Given the description of an element on the screen output the (x, y) to click on. 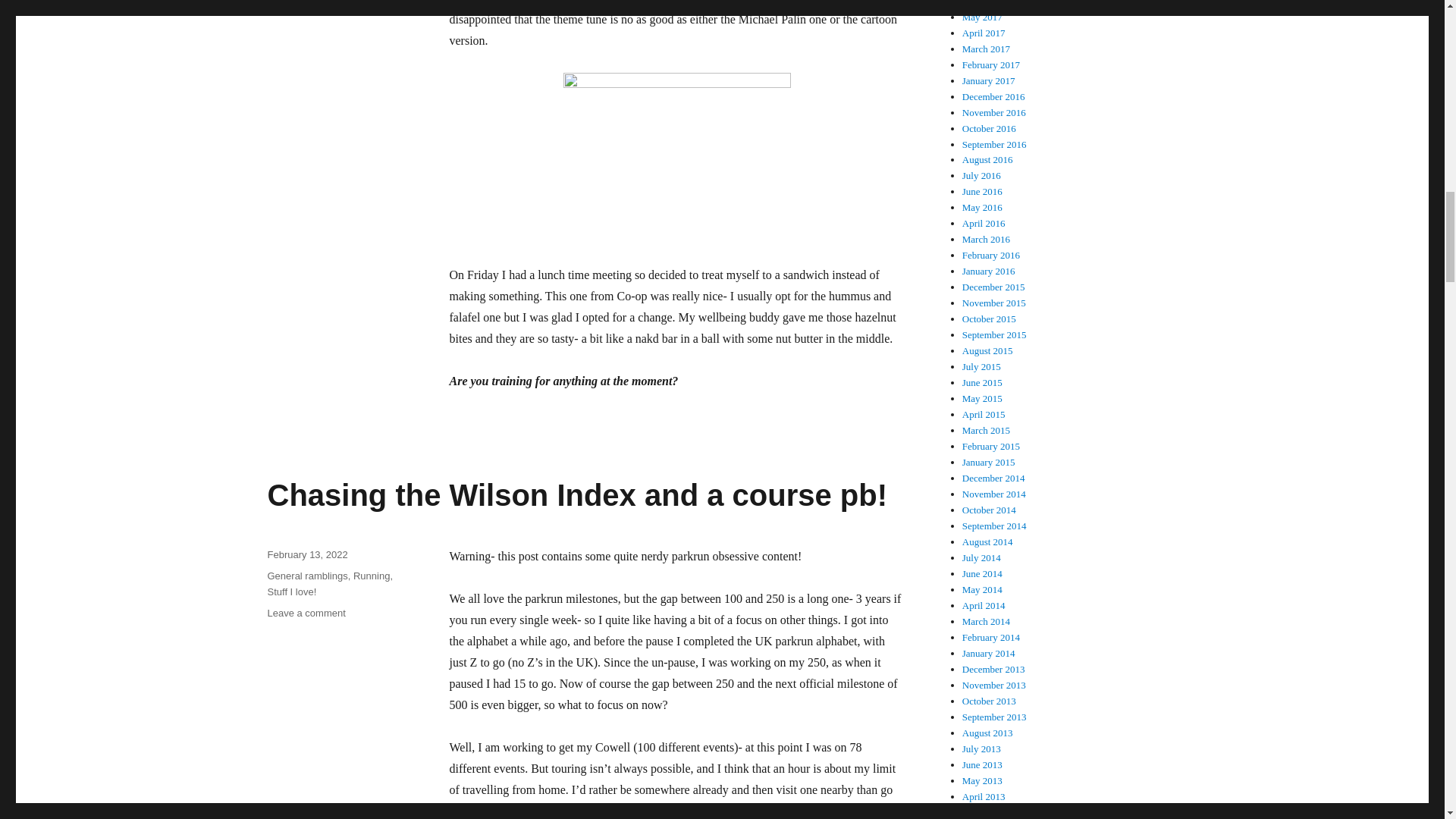
Stuff I love! (290, 591)
Chasing the Wilson Index and a course pb! (576, 494)
Running (305, 613)
General ramblings (371, 575)
February 13, 2022 (306, 575)
